Given the description of an element on the screen output the (x, y) to click on. 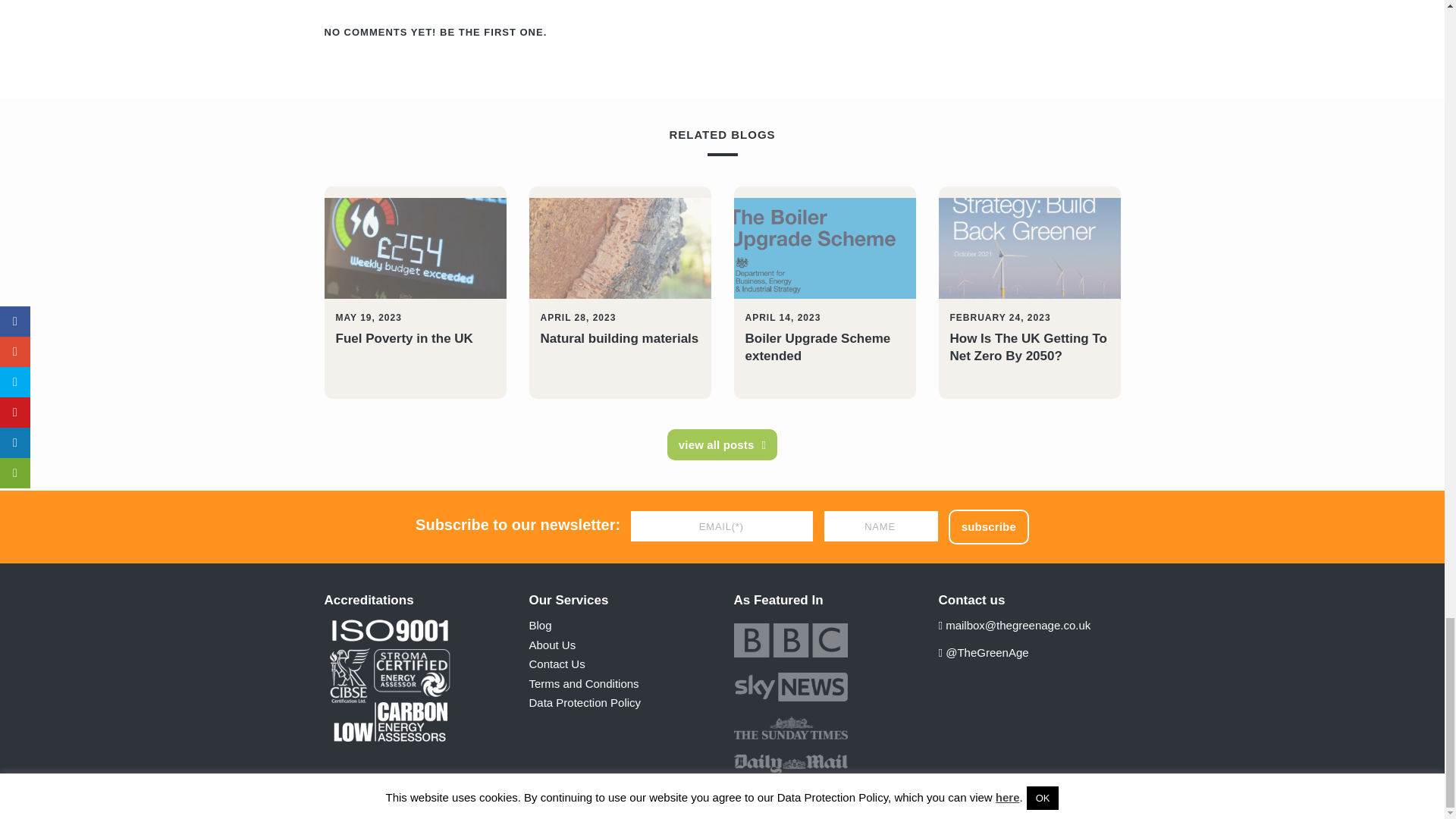
subscribe (989, 526)
